Given the description of an element on the screen output the (x, y) to click on. 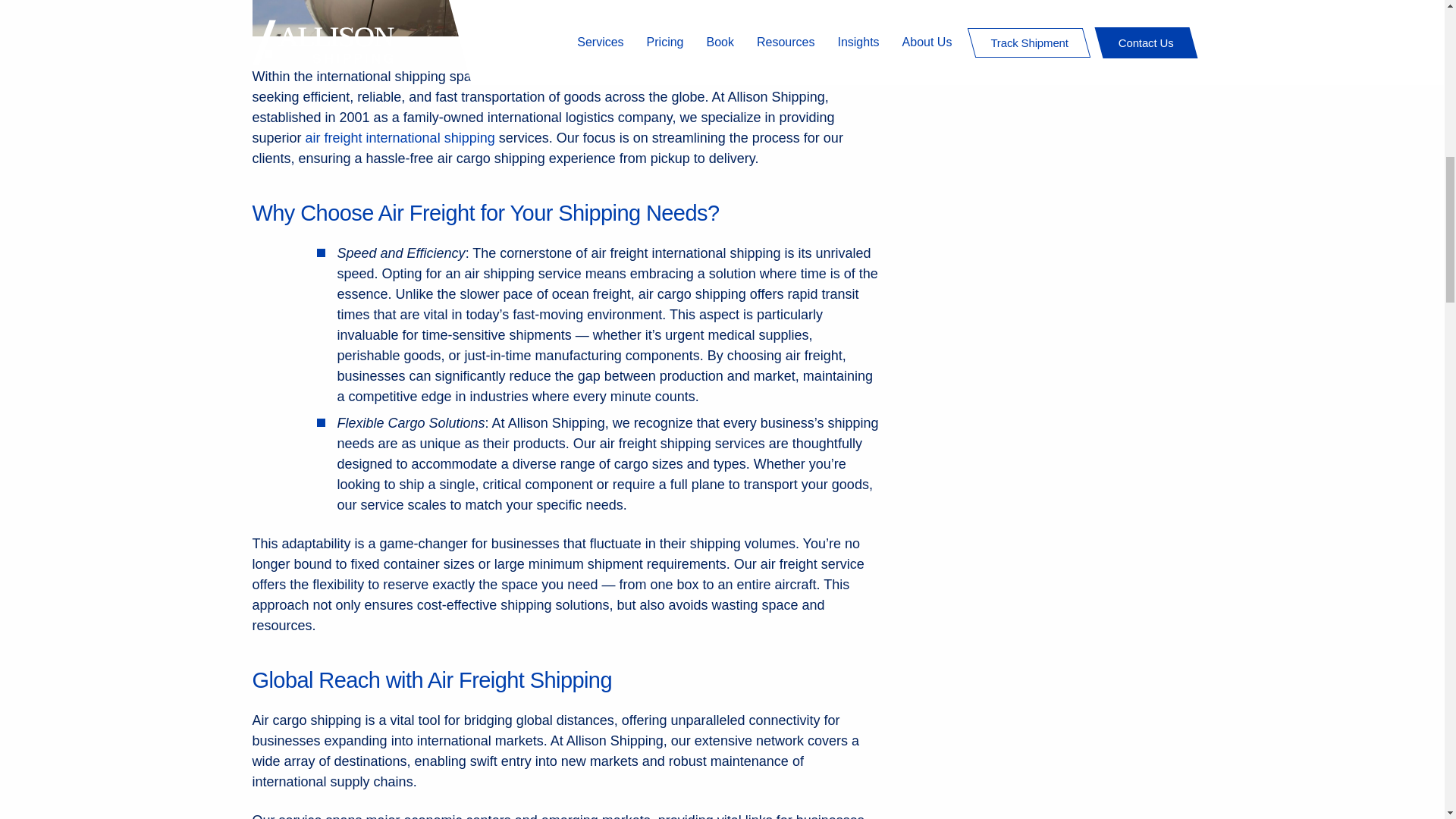
air freight international shipping (400, 137)
